Given the description of an element on the screen output the (x, y) to click on. 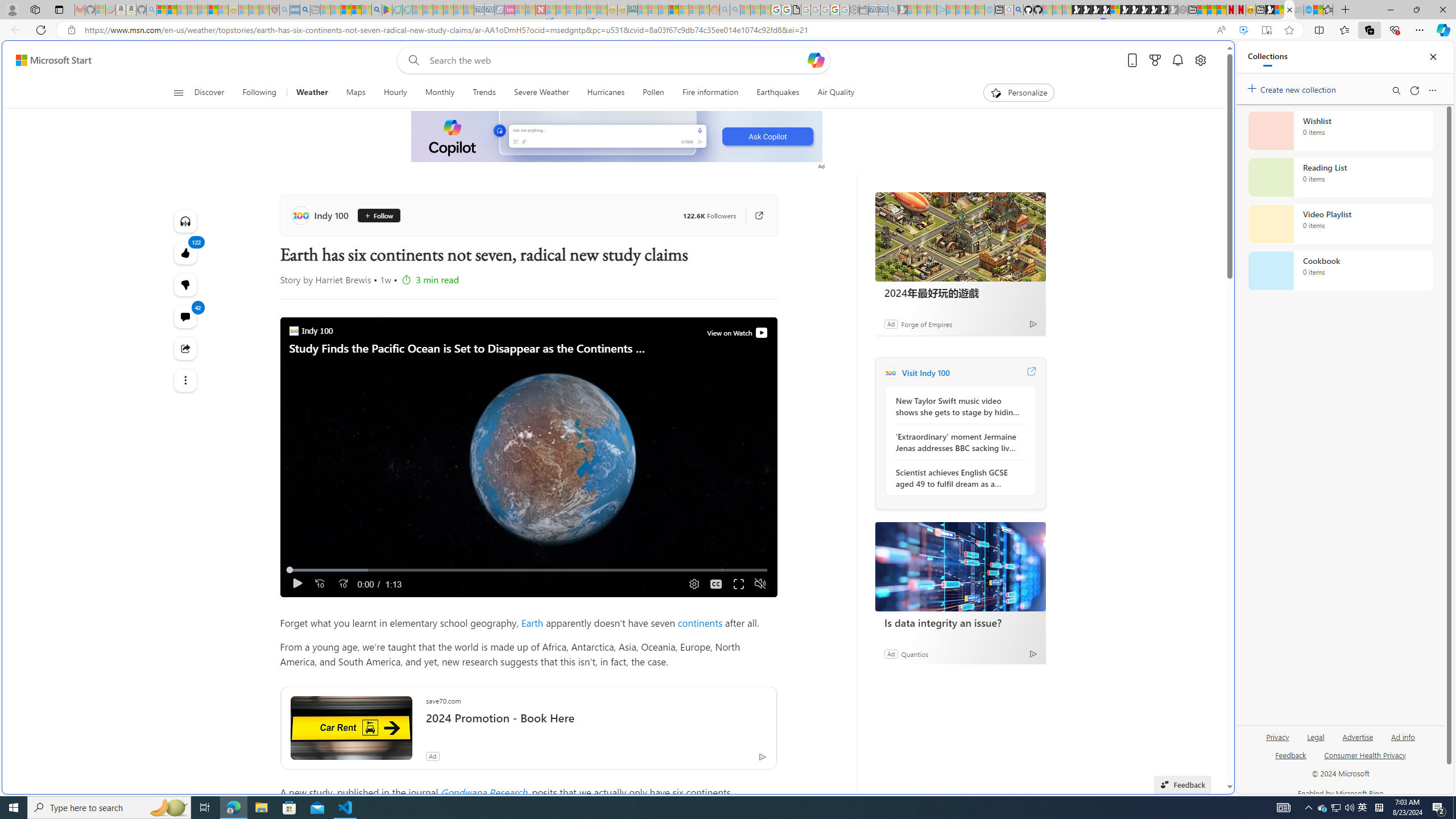
continents (699, 621)
Weather (311, 92)
utah sues federal government - Search (922, 389)
Consumer Health Privacy (1364, 759)
Seek Back (319, 583)
Settings - Sleeping (853, 9)
Hurricanes (605, 92)
Indy 100 (322, 215)
